Given the description of an element on the screen output the (x, y) to click on. 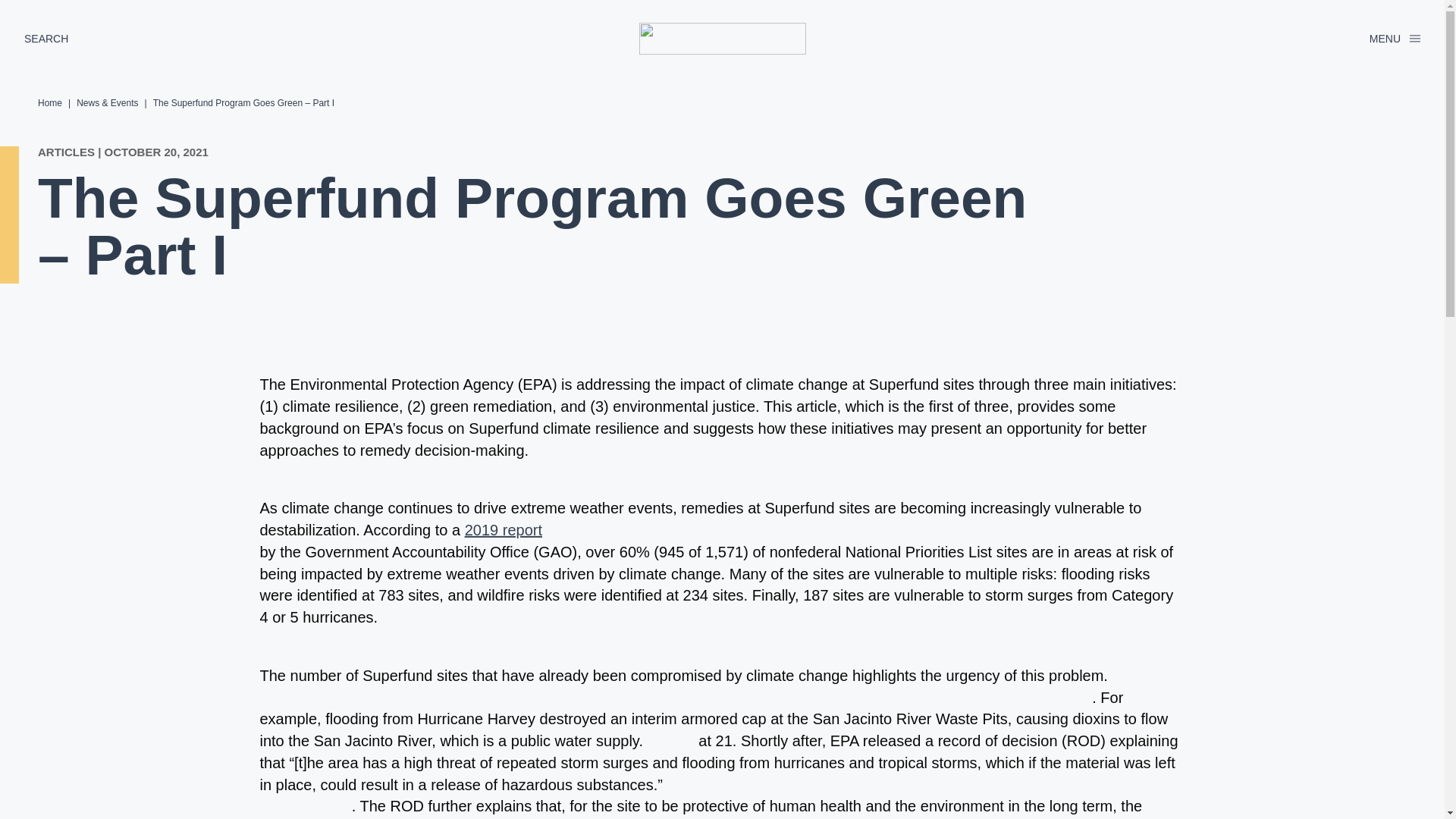
MENU (1395, 38)
Home (49, 102)
2019 report (502, 529)
SEARCH (46, 38)
